Given the description of an element on the screen output the (x, y) to click on. 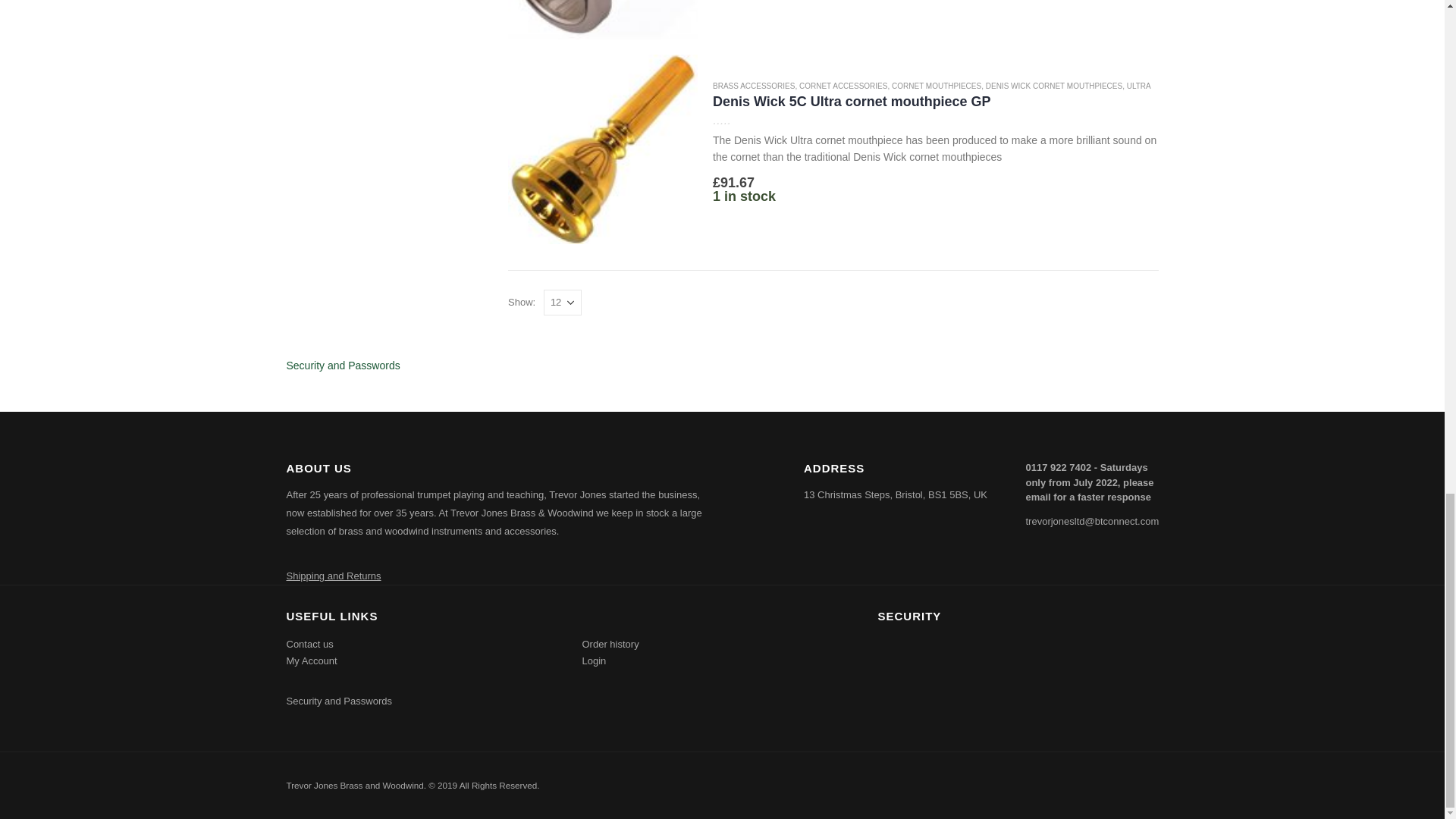
Contact Us (309, 644)
0 (737, 120)
My Account (311, 660)
